Given the description of an element on the screen output the (x, y) to click on. 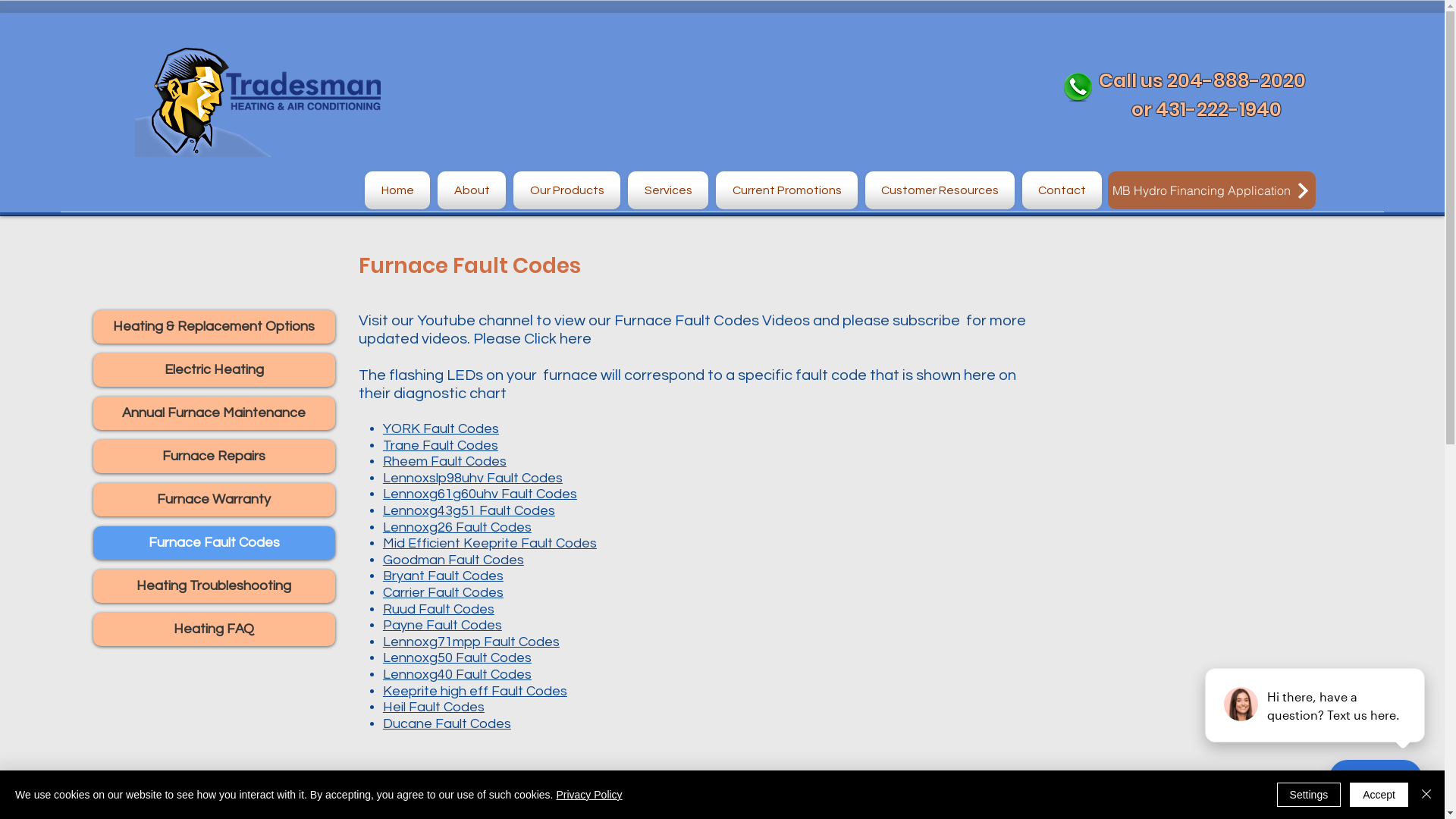
Contact Element type: text (1059, 190)
Click here Element type: text (556, 338)
Payne Fault Codes Element type: text (442, 625)
Mid Efficient Keeprite Fault Codes Element type: text (489, 543)
Heating FAQ Element type: text (213, 629)
Furnace Fault Codes Element type: text (213, 542)
Privacy Policy Element type: text (588, 794)
Lennoxg40 Fault Codes Element type: text (456, 674)
Lennoxg26 Fault Codes Element type: text (456, 527)
Rheem Fault Codes Element type: text (444, 461)
Lennoxg61g60uhv Fault Codes Element type: text (479, 493)
Keeprite high eff Fault Codes Element type: text (474, 691)
Carrier Fault Codes Element type: text (442, 592)
Heil Fault Codes Element type: text (433, 706)
Settings Element type: text (1309, 794)
Trane Fault Codes Element type: text (440, 445)
Lennoxg43g51 Fault Codes Element type: text (468, 510)
YORK Fault Codes Element type: text (440, 428)
Furnace Repairs Element type: text (213, 456)
Accept Element type: text (1378, 794)
Ducane Fault Codes Element type: text (446, 723)
Lennoxslp98uhv Fault Codes Element type: text (472, 477)
Annual Furnace Maintenance Element type: text (213, 412)
Ruud Fault Codes Element type: text (438, 609)
Furnace Warranty Element type: text (213, 499)
Home Element type: text (398, 190)
Lennoxg50 Fault Codes Element type: text (456, 657)
podium webchat widget prompt Element type: hover (1315, 705)
Lennoxg71mpp Fault Codes Element type: text (470, 641)
Heating Troubleshooting Element type: text (213, 585)
Electric Heating Element type: text (213, 369)
Bryant Fault Codes Element type: text (442, 575)
Heating & Replacement Options Element type: text (213, 326)
MB Hydro Financing Application Element type: text (1211, 190)
Goodman Fault Codes Element type: text (453, 559)
